Given the description of an element on the screen output the (x, y) to click on. 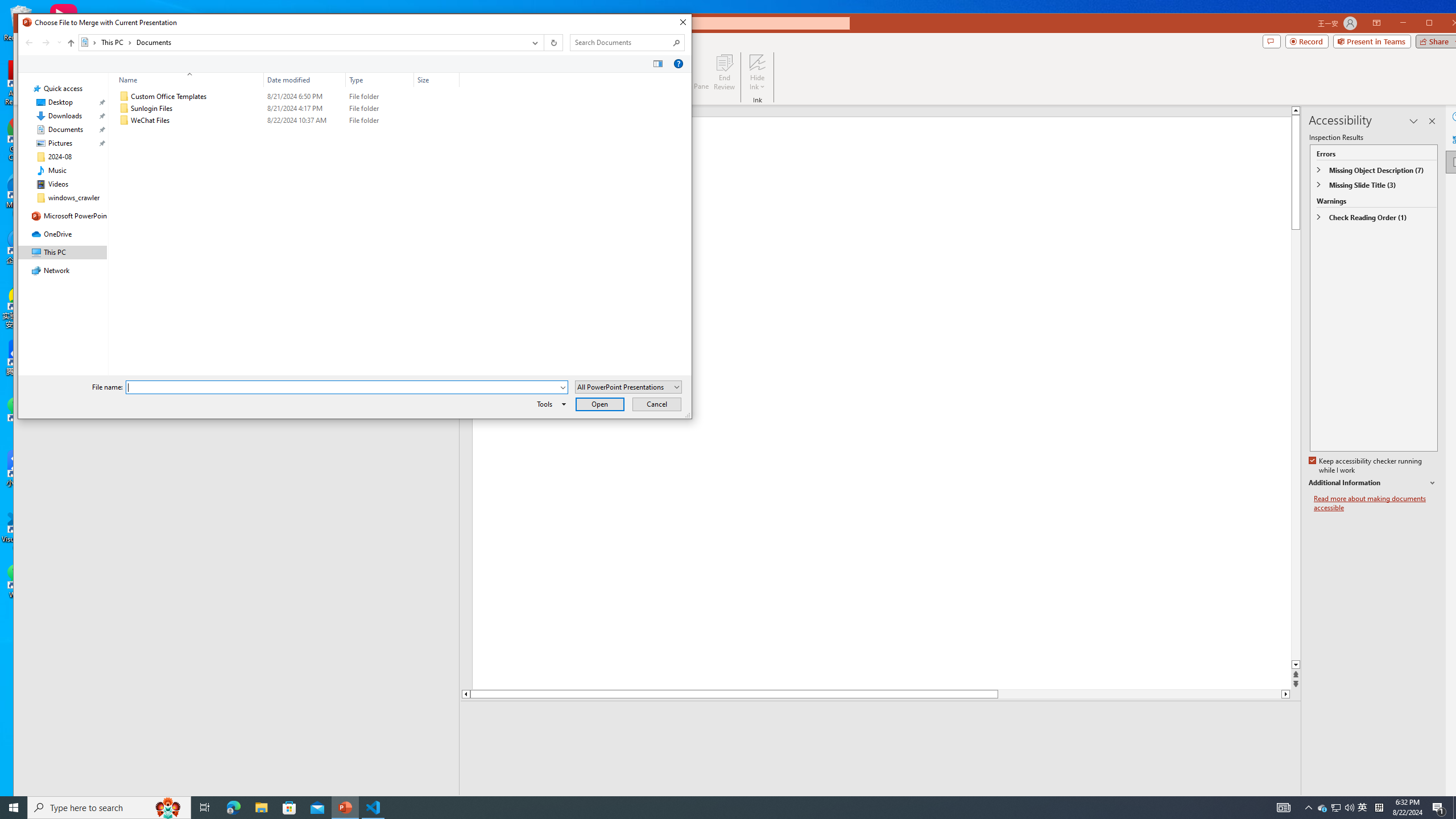
Visual Studio Code - 1 running window (373, 807)
Address band toolbar (543, 42)
PowerPoint - 1 running window (345, 807)
Type here to search (1362, 807)
Additional Information (108, 807)
Microsoft Edge (1373, 482)
Documents (233, 807)
